Given the description of an element on the screen output the (x, y) to click on. 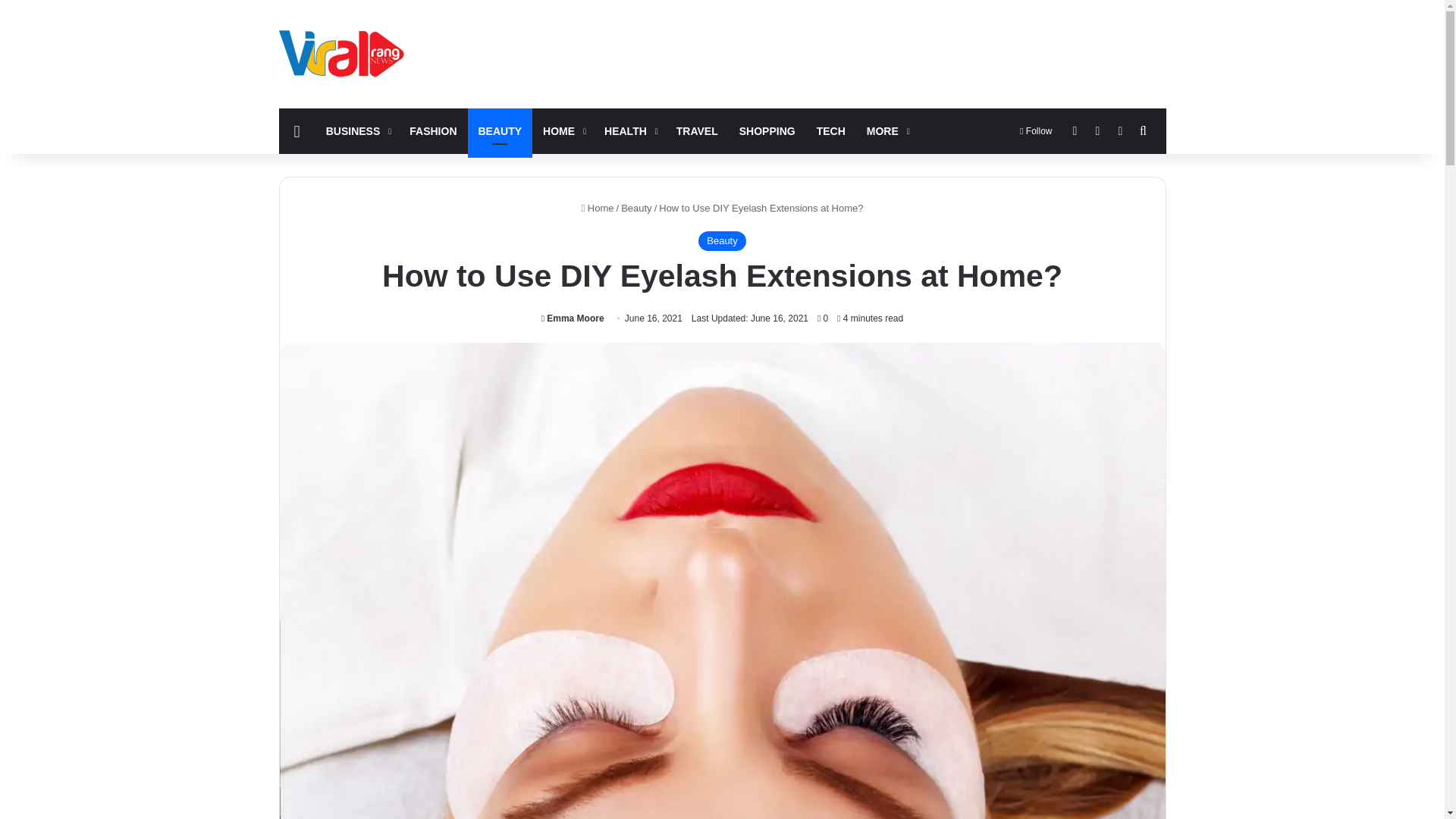
HOME (563, 130)
Follow (1035, 130)
BEAUTY (499, 130)
Emma Moore (572, 317)
BUSINESS (356, 130)
Viral Rang (344, 53)
SHOPPING (767, 130)
FASHION (432, 130)
TECH (831, 130)
MORE (886, 130)
